Given the description of an element on the screen output the (x, y) to click on. 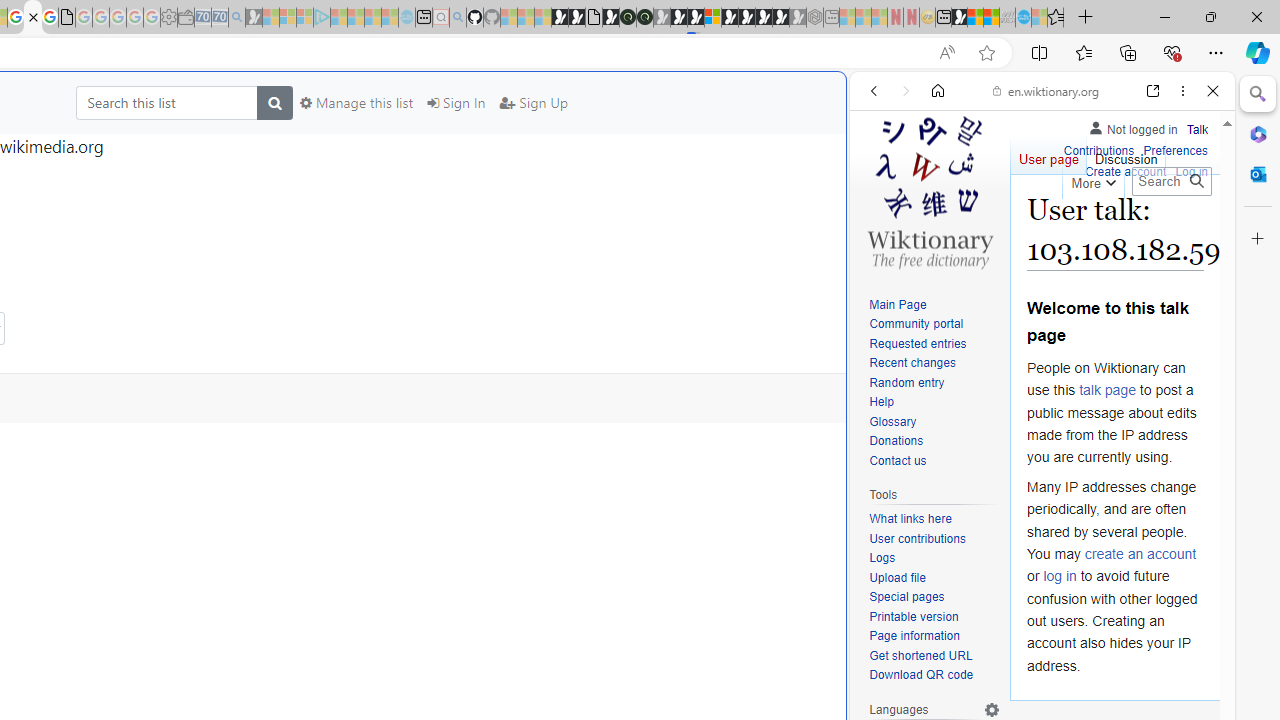
Recent changes (912, 362)
Earth has six continents not seven, radical new study claims (991, 17)
talk page (1107, 390)
Get shortened URL (934, 655)
Logs (934, 558)
Printable version (934, 616)
Search Filter, WEB (882, 228)
Play Cave FRVR in your browser | Games from Microsoft Start (343, 426)
google_privacy_policy_zh-CN.pdf (66, 17)
